Given the description of an element on the screen output the (x, y) to click on. 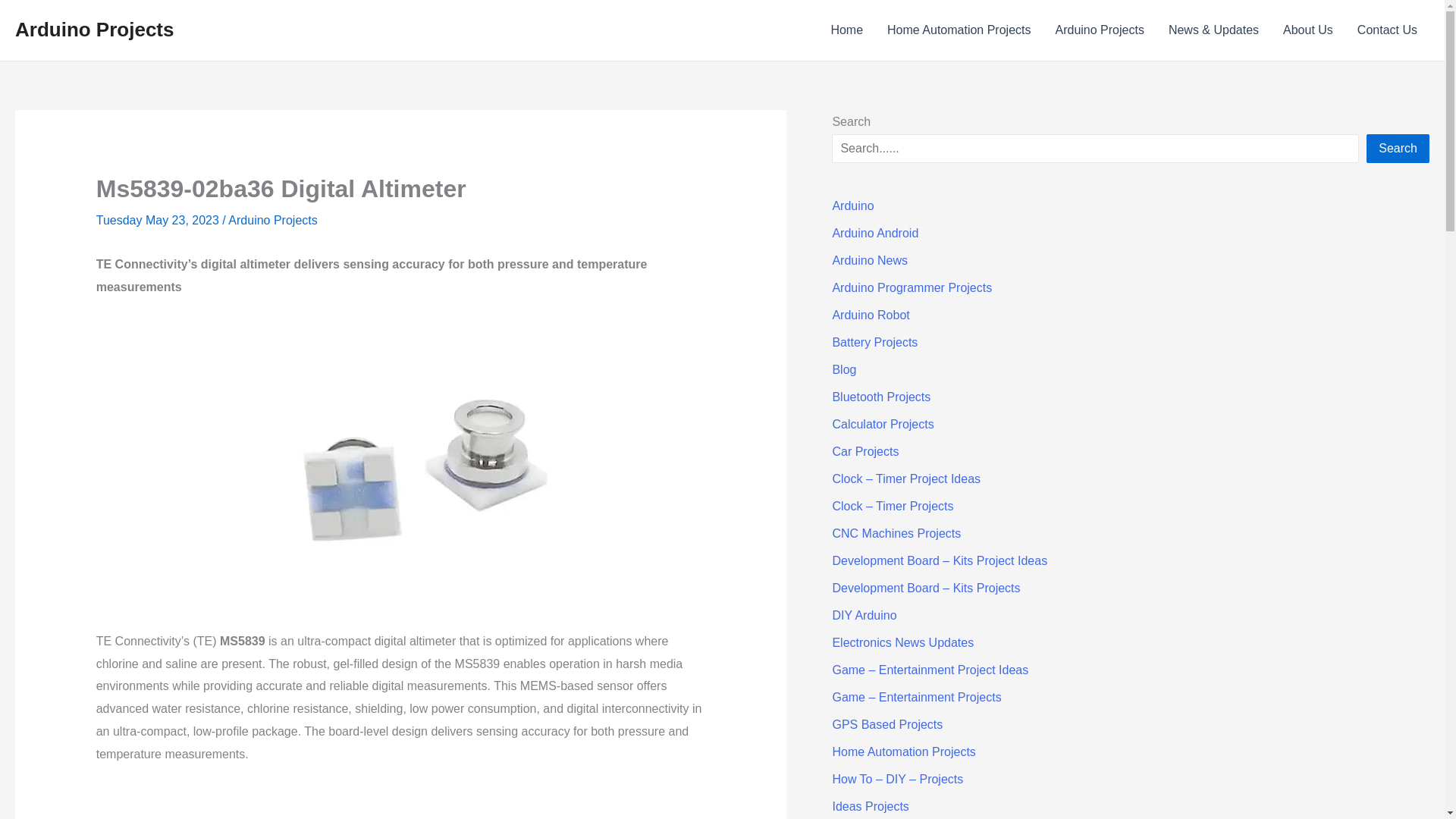
Battery Projects (874, 341)
Blog (843, 369)
Arduino Robot (869, 314)
Home Automation Projects (958, 30)
About Us (1308, 30)
Search (1398, 148)
Arduino (852, 205)
Contact Us (1387, 30)
Home (846, 30)
Arduino Projects (1099, 30)
